Given the description of an element on the screen output the (x, y) to click on. 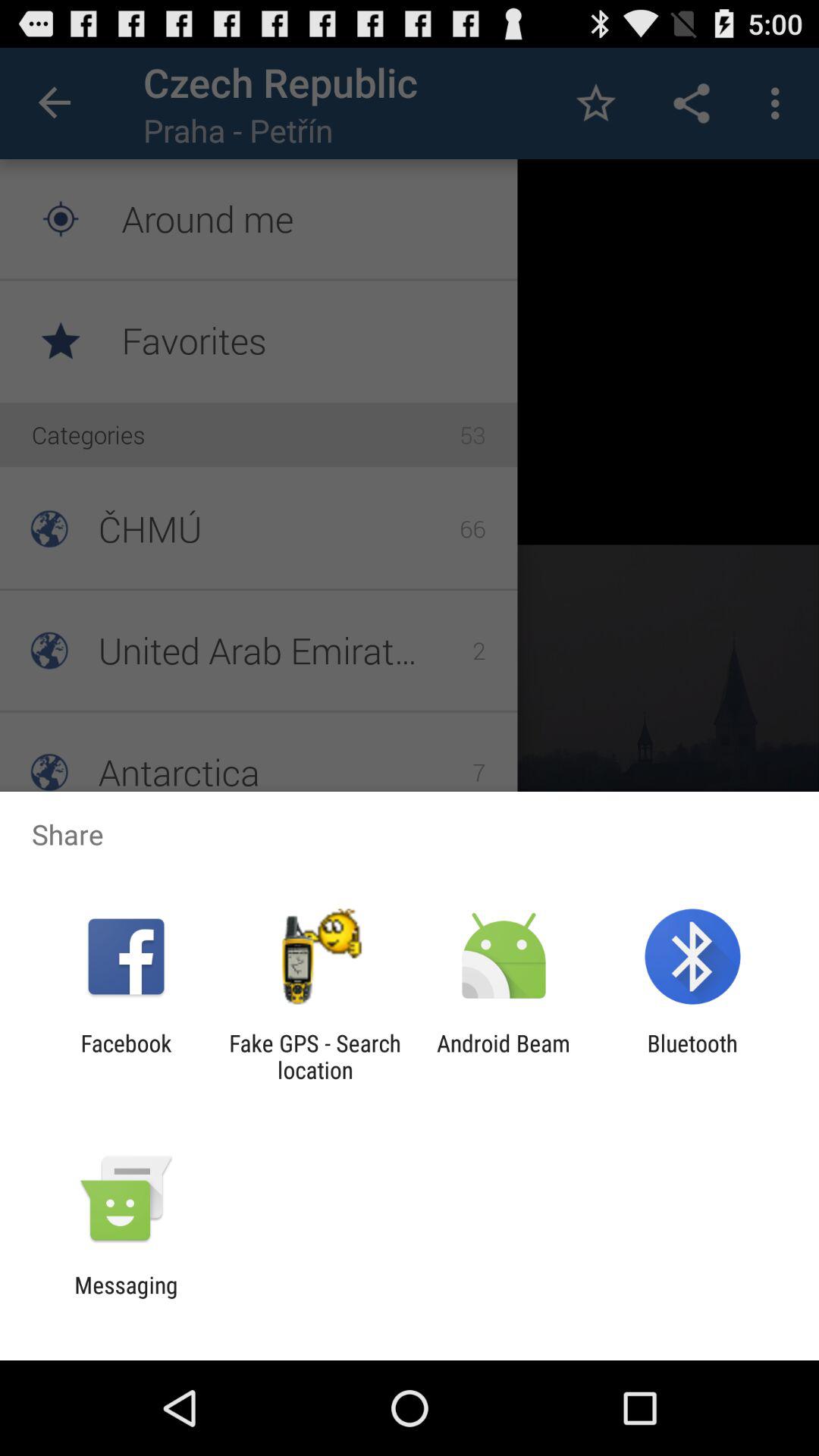
choose icon next to the facebook icon (314, 1056)
